Given the description of an element on the screen output the (x, y) to click on. 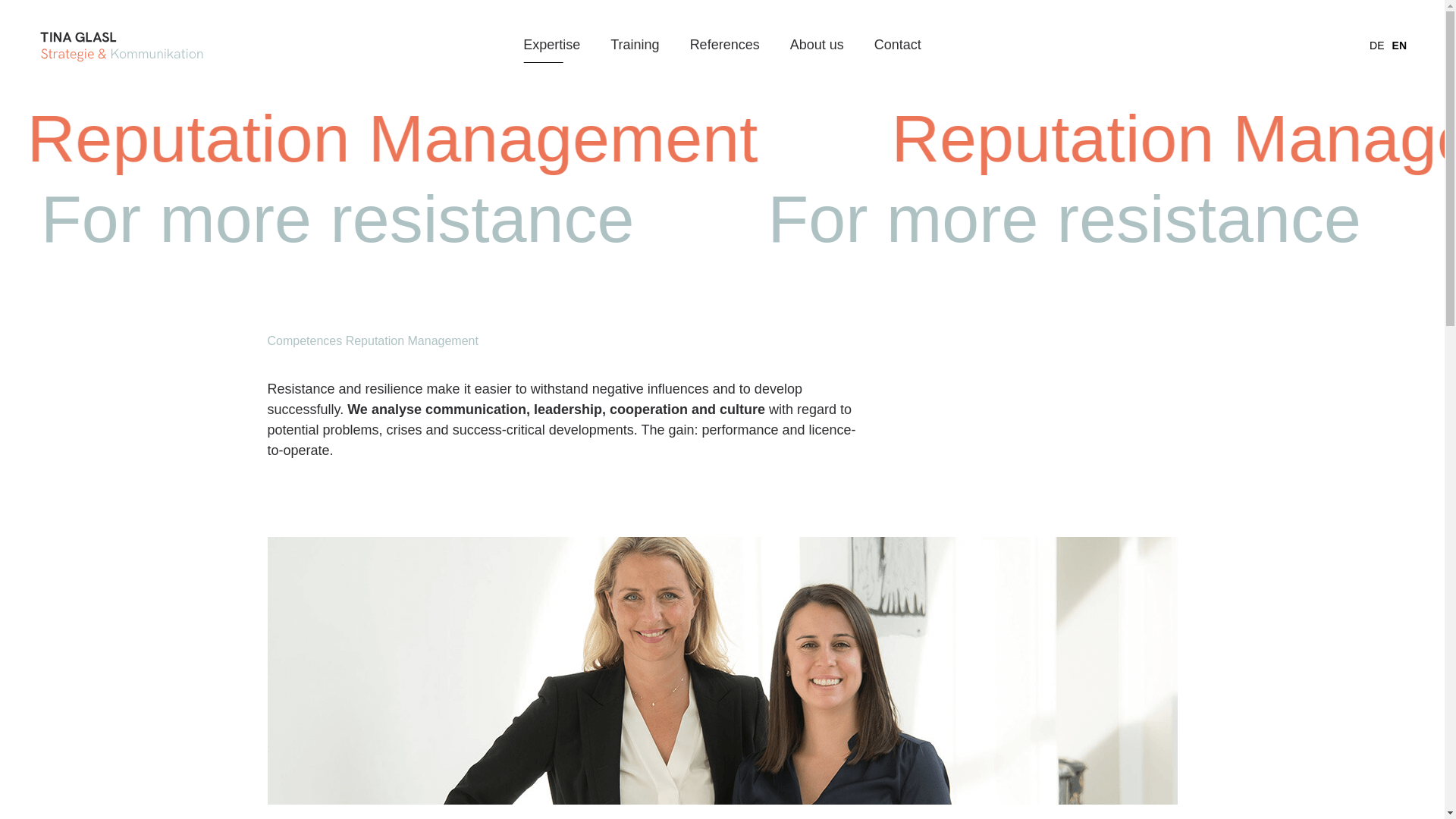
References (725, 46)
Expertise (550, 46)
About us (817, 46)
DE (1377, 45)
Contact (898, 46)
Training (634, 46)
EN (1398, 45)
